Given the description of an element on the screen output the (x, y) to click on. 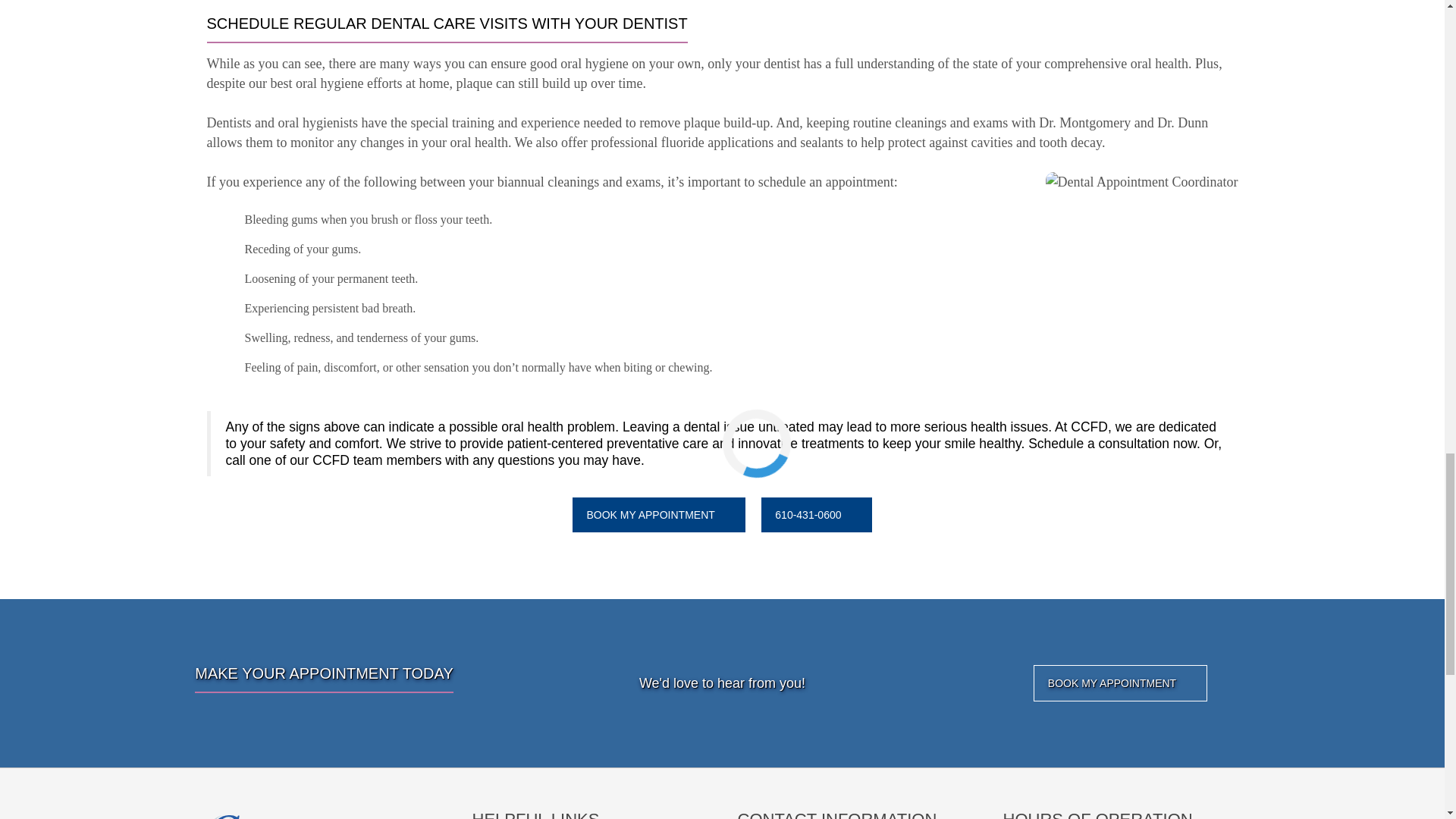
BOOK MY APPOINTMENT (1120, 683)
BOOK MY APPOINTMENT (658, 514)
610-431-0600 (816, 514)
